Given the description of an element on the screen output the (x, y) to click on. 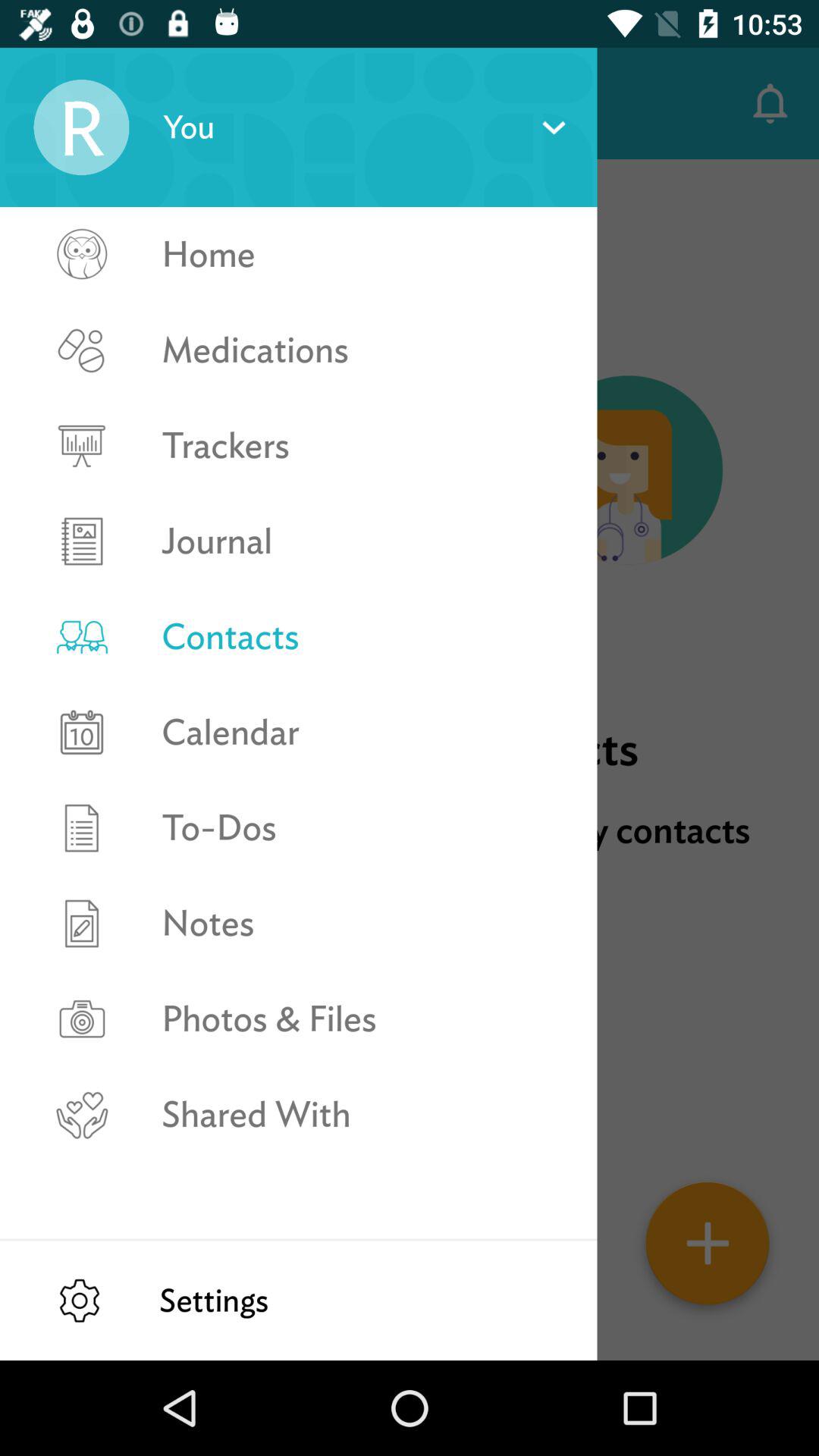
flip until notes item (363, 923)
